Given the description of an element on the screen output the (x, y) to click on. 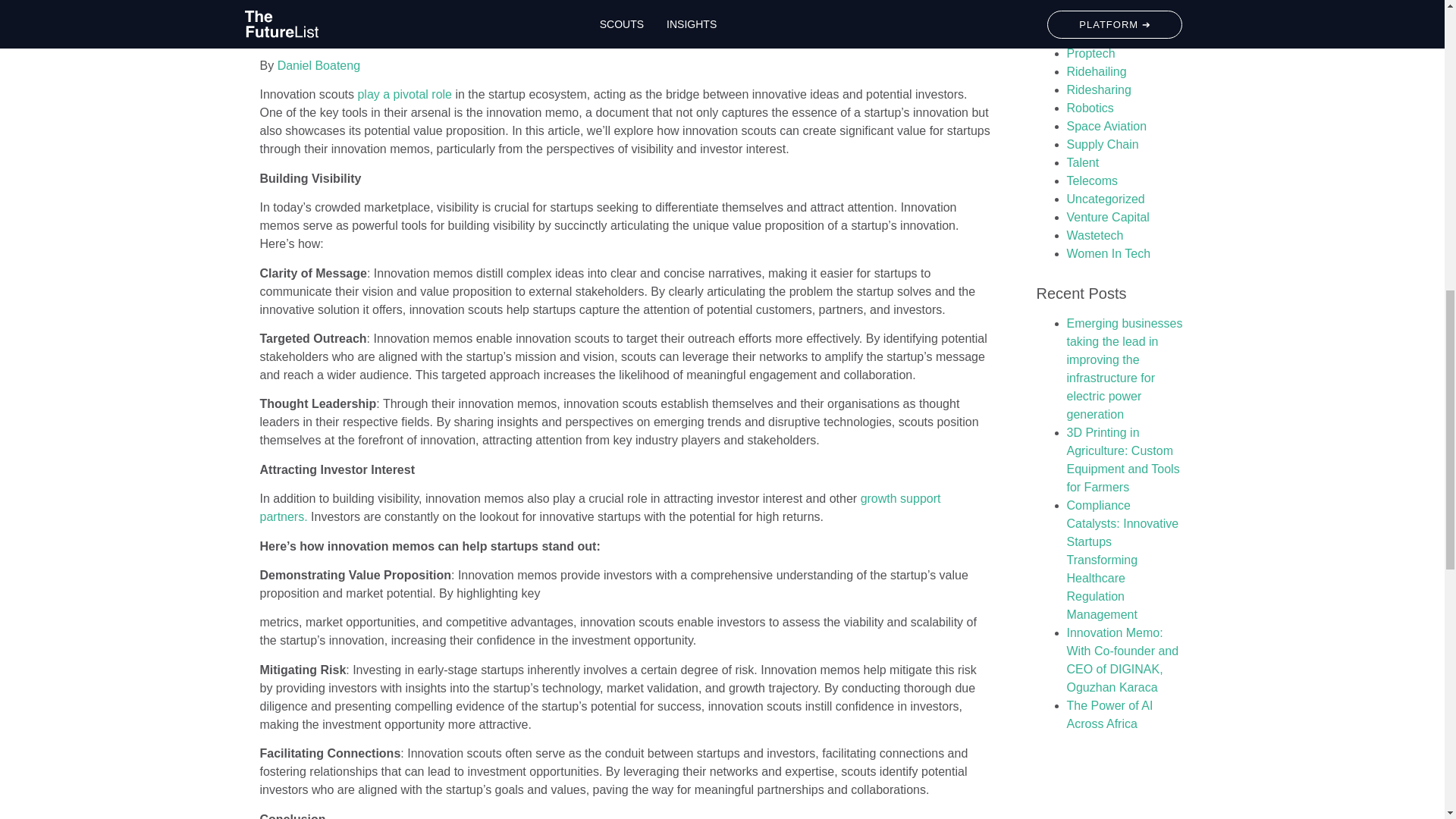
Procurement (1100, 34)
Daniel Boateng (318, 65)
Music and Media (1111, 16)
growth support partners. (599, 507)
play a pivotal role (403, 93)
Mobility (1085, 2)
